Given the description of an element on the screen output the (x, y) to click on. 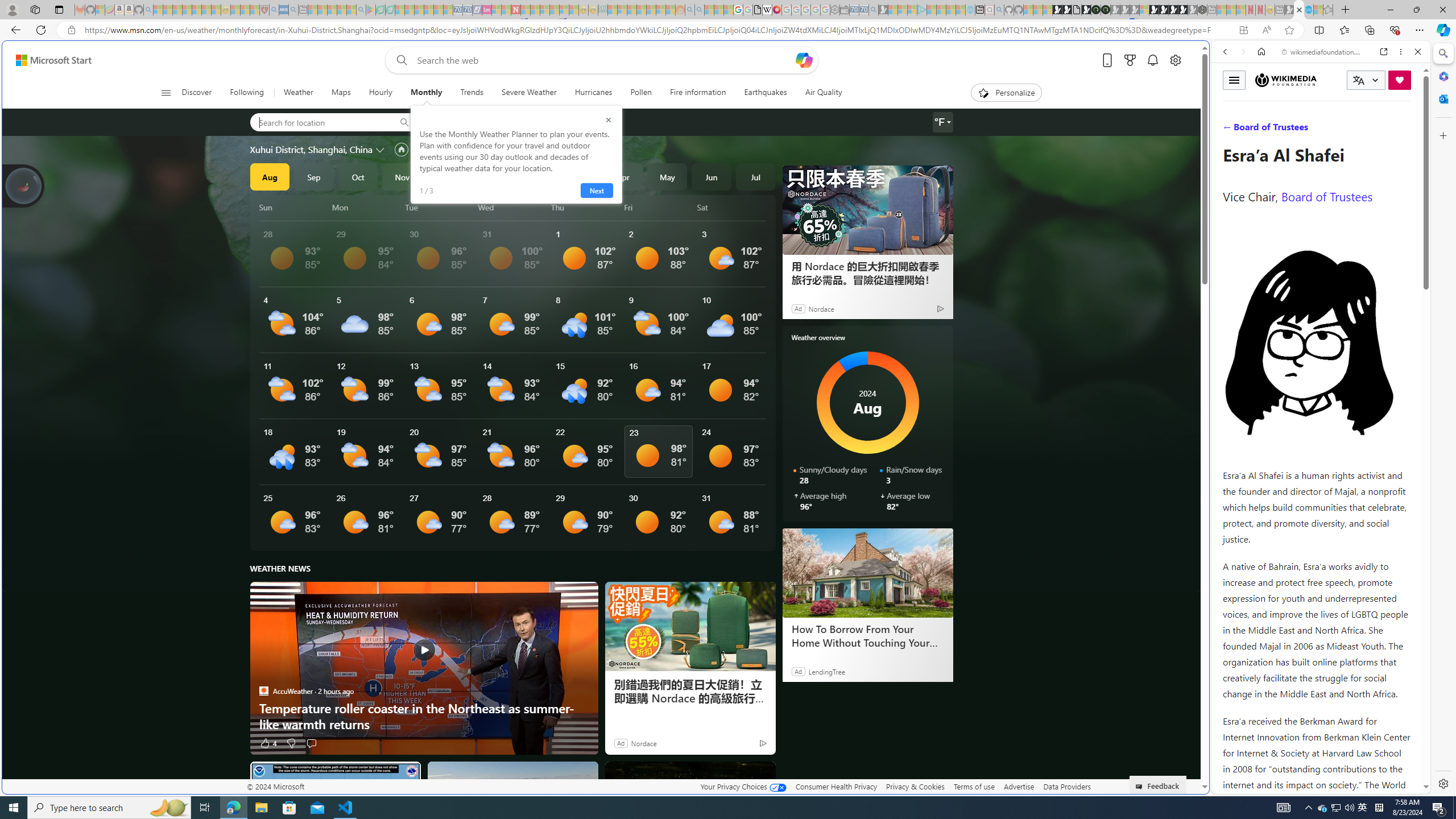
Feb (534, 176)
Close Customize pane (1442, 135)
Oct (357, 176)
Wed (512, 207)
Monthly (426, 92)
Frequently visited (965, 151)
Enter your search term (603, 59)
